Given the description of an element on the screen output the (x, y) to click on. 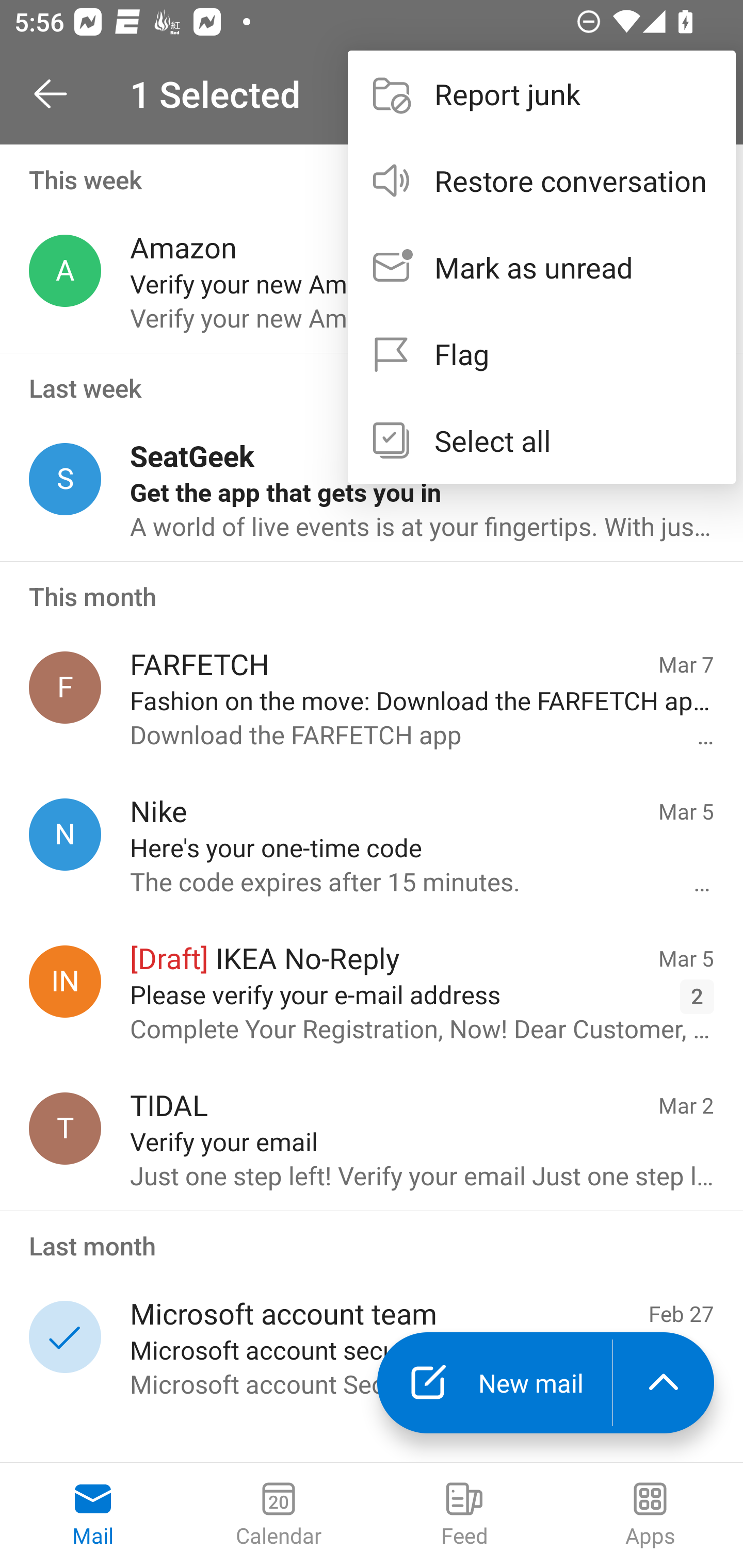
Report junk (541, 93)
Restore conversation (541, 180)
Mark as unread (541, 267)
Flag (541, 353)
Select all (541, 440)
